Given the description of an element on the screen output the (x, y) to click on. 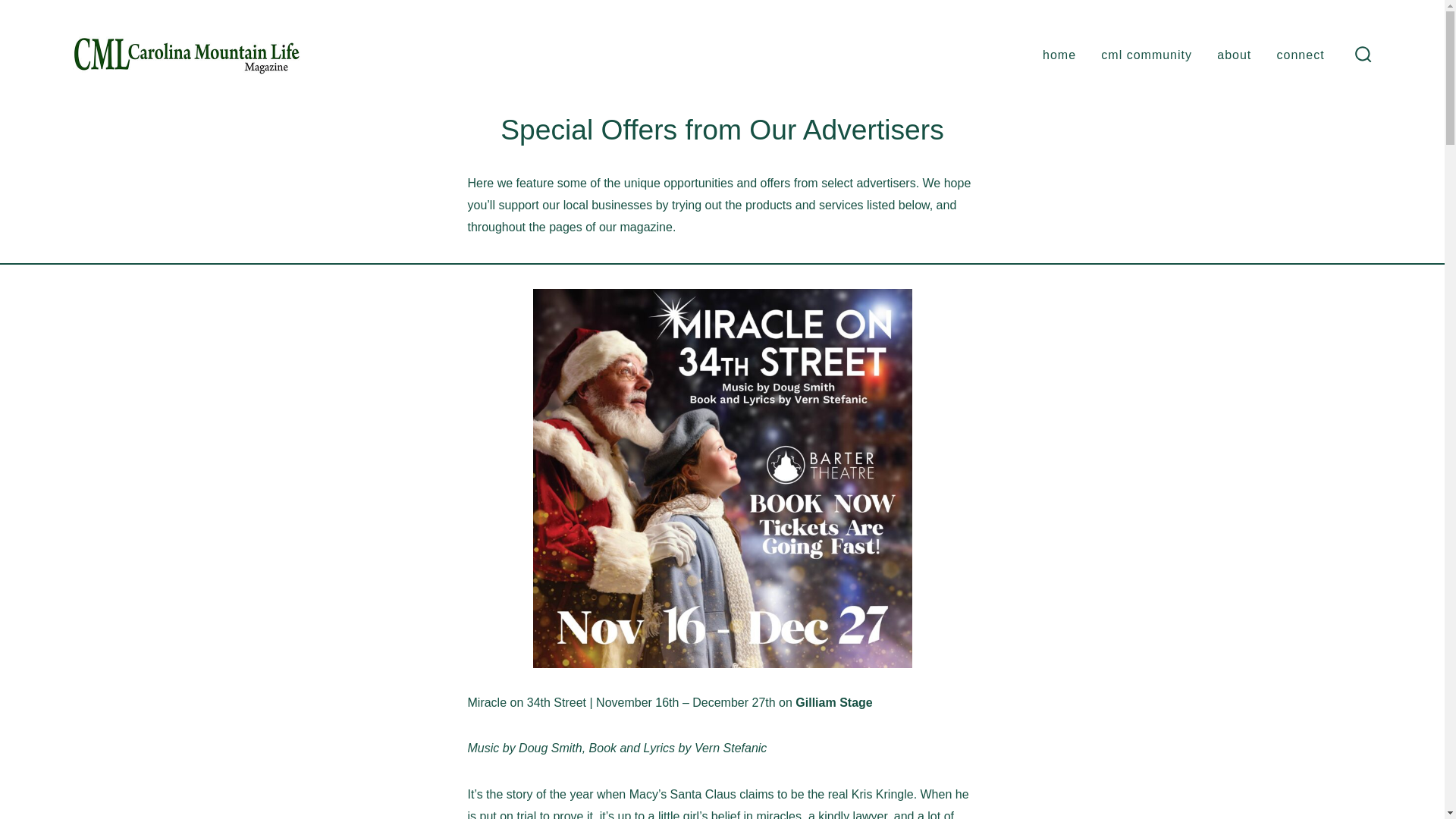
connect (1300, 55)
home (1058, 55)
cml community (1146, 55)
about (1233, 55)
search toggle (1362, 55)
